Given the description of an element on the screen output the (x, y) to click on. 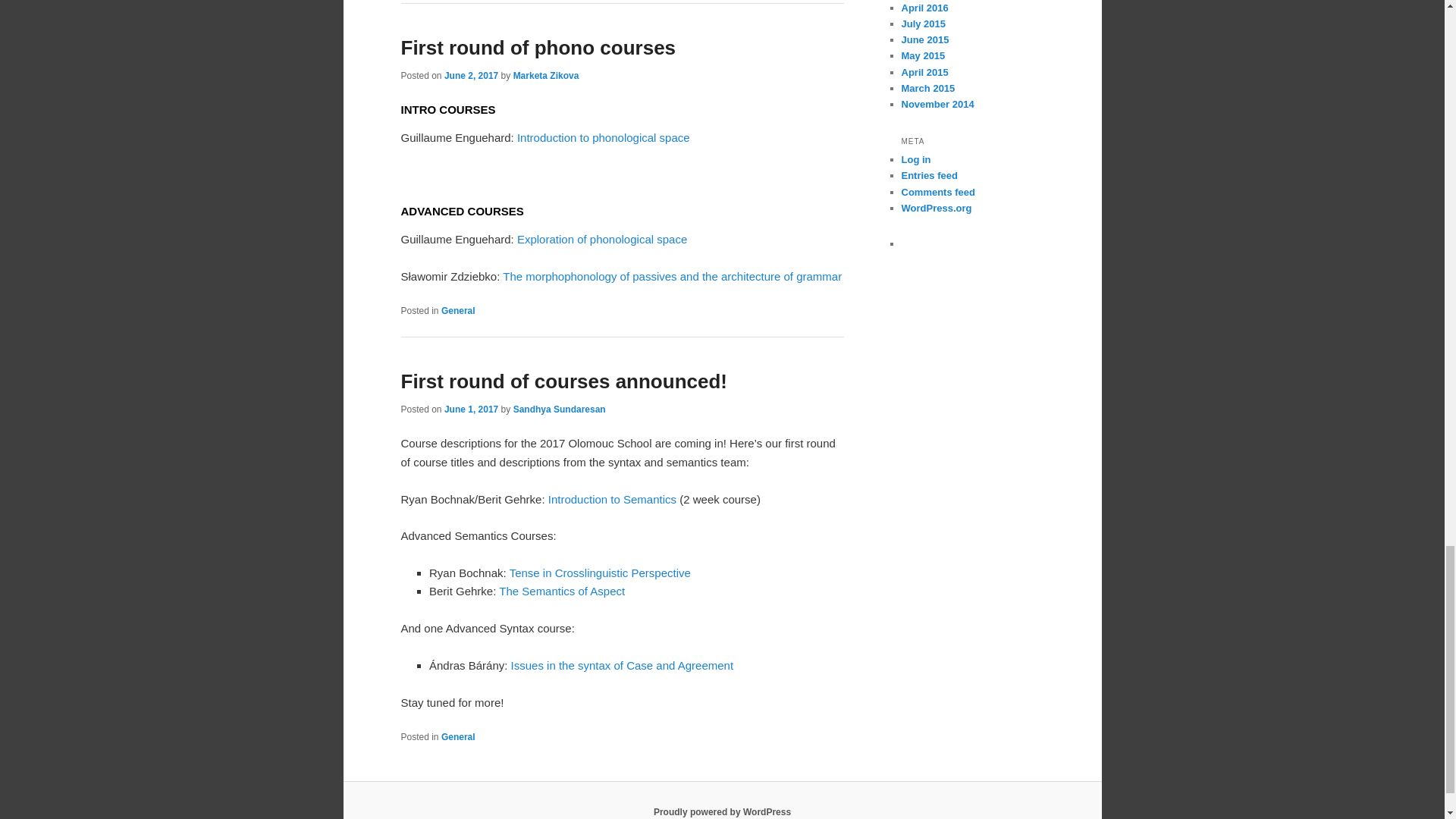
2:42 pm (470, 409)
View all posts by Sandhya Sundaresan (559, 409)
12:51 pm (470, 75)
View all posts by Marketa Zikova (546, 75)
